Given the description of an element on the screen output the (x, y) to click on. 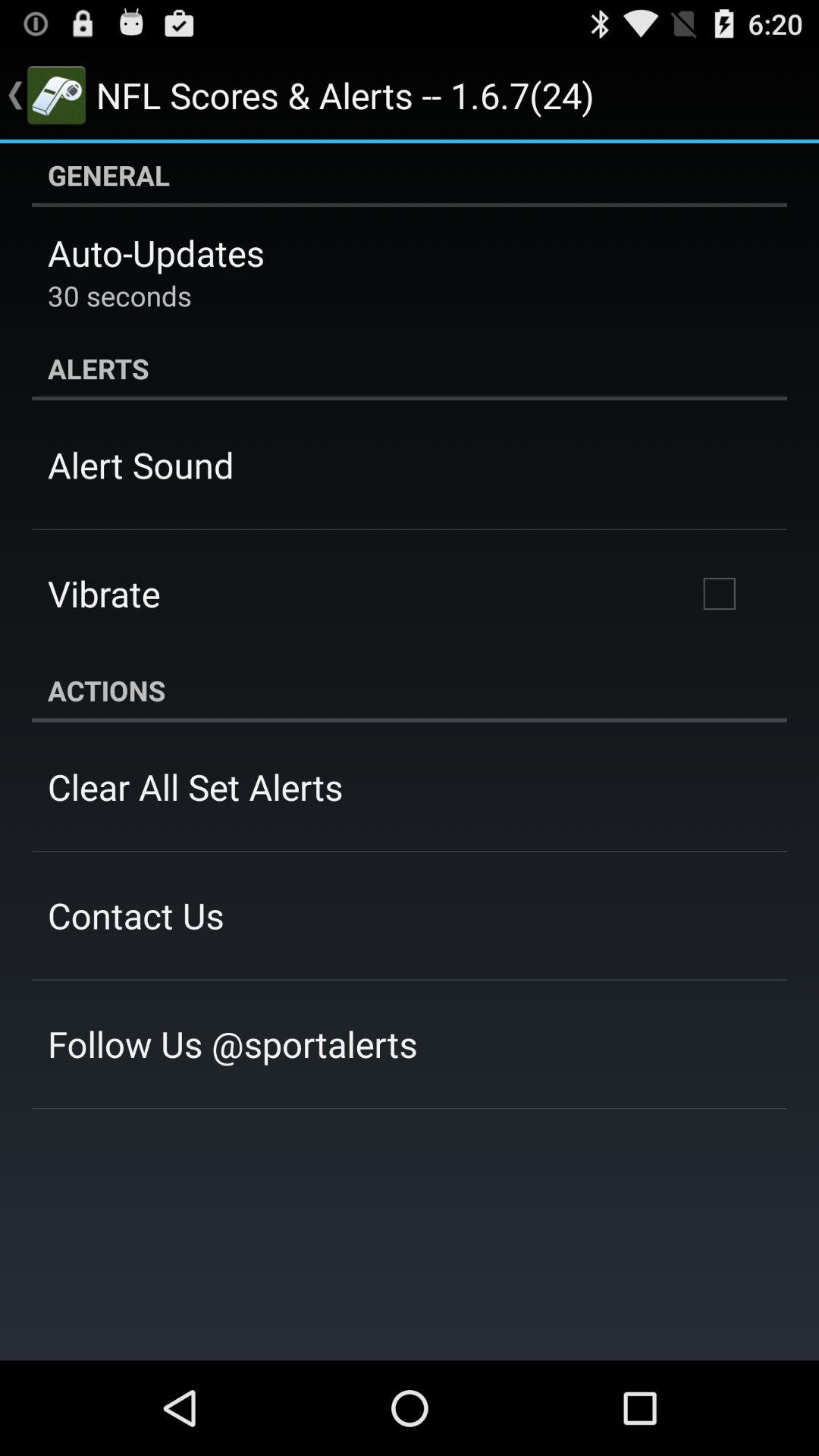
press 30 seconds (119, 295)
